Given the description of an element on the screen output the (x, y) to click on. 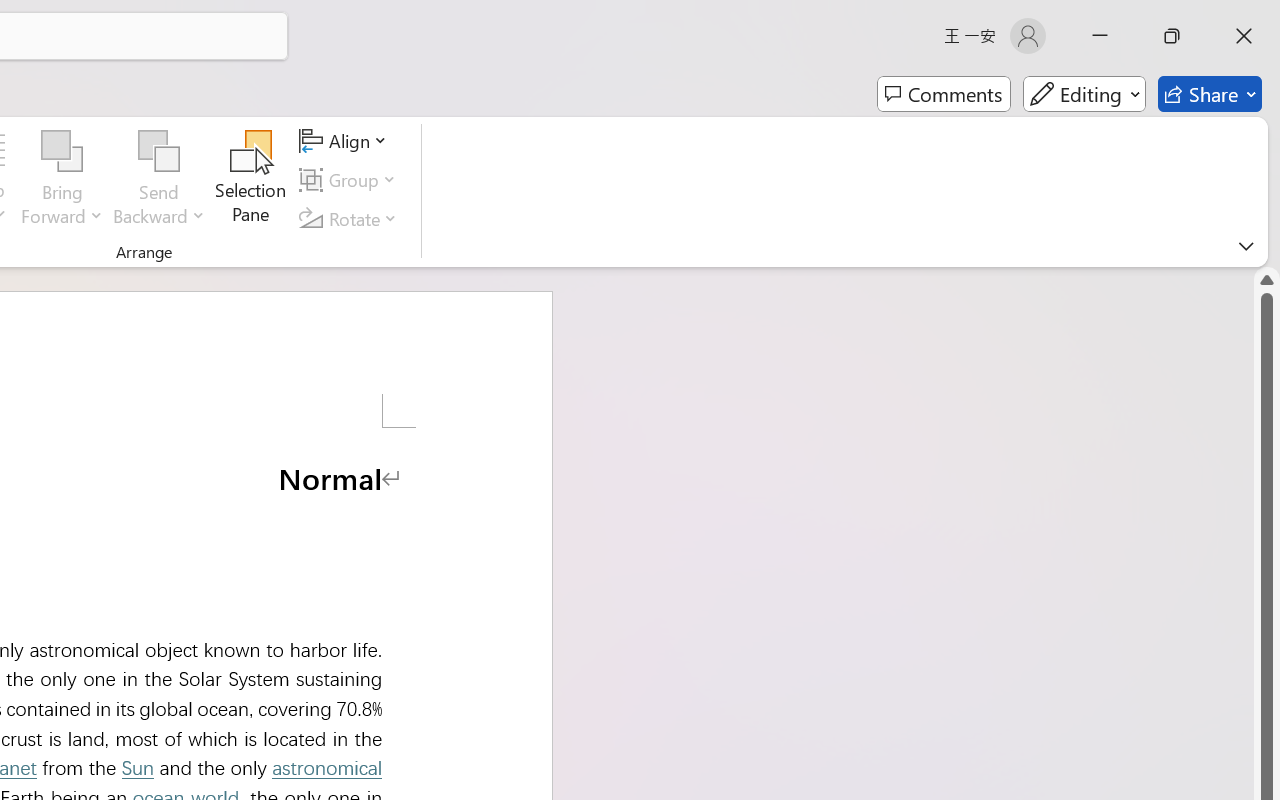
Send Backward (159, 179)
Line up (1267, 279)
